Given the description of an element on the screen output the (x, y) to click on. 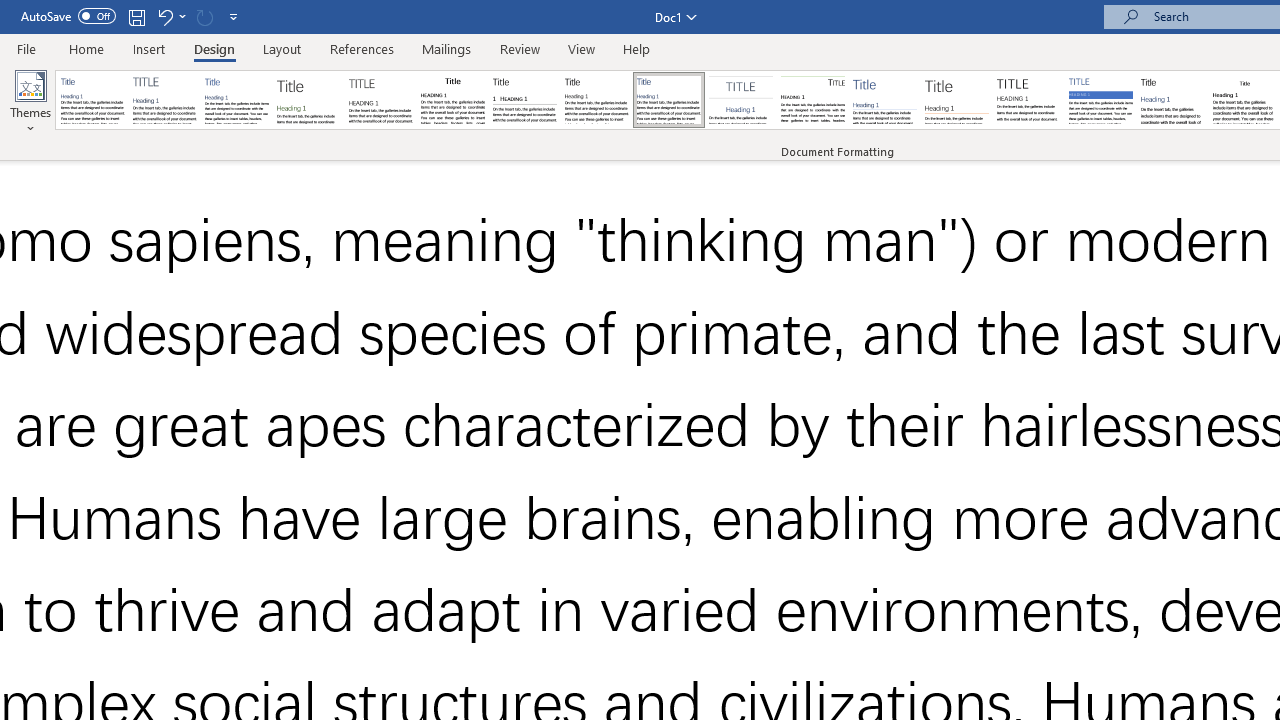
System (10, 11)
Review (520, 48)
Design (214, 48)
Black & White (Capitalized) (381, 100)
Undo Outline Move Up (170, 15)
Basic (Elegant) (164, 100)
Casual (669, 100)
Can't Repeat (204, 15)
View (582, 48)
Minimalist (1028, 100)
Centered (740, 100)
Lines (Simple) (884, 100)
Basic (Stylish) (308, 100)
Quick Access Toolbar (131, 16)
Mailings (447, 48)
